Given the description of an element on the screen output the (x, y) to click on. 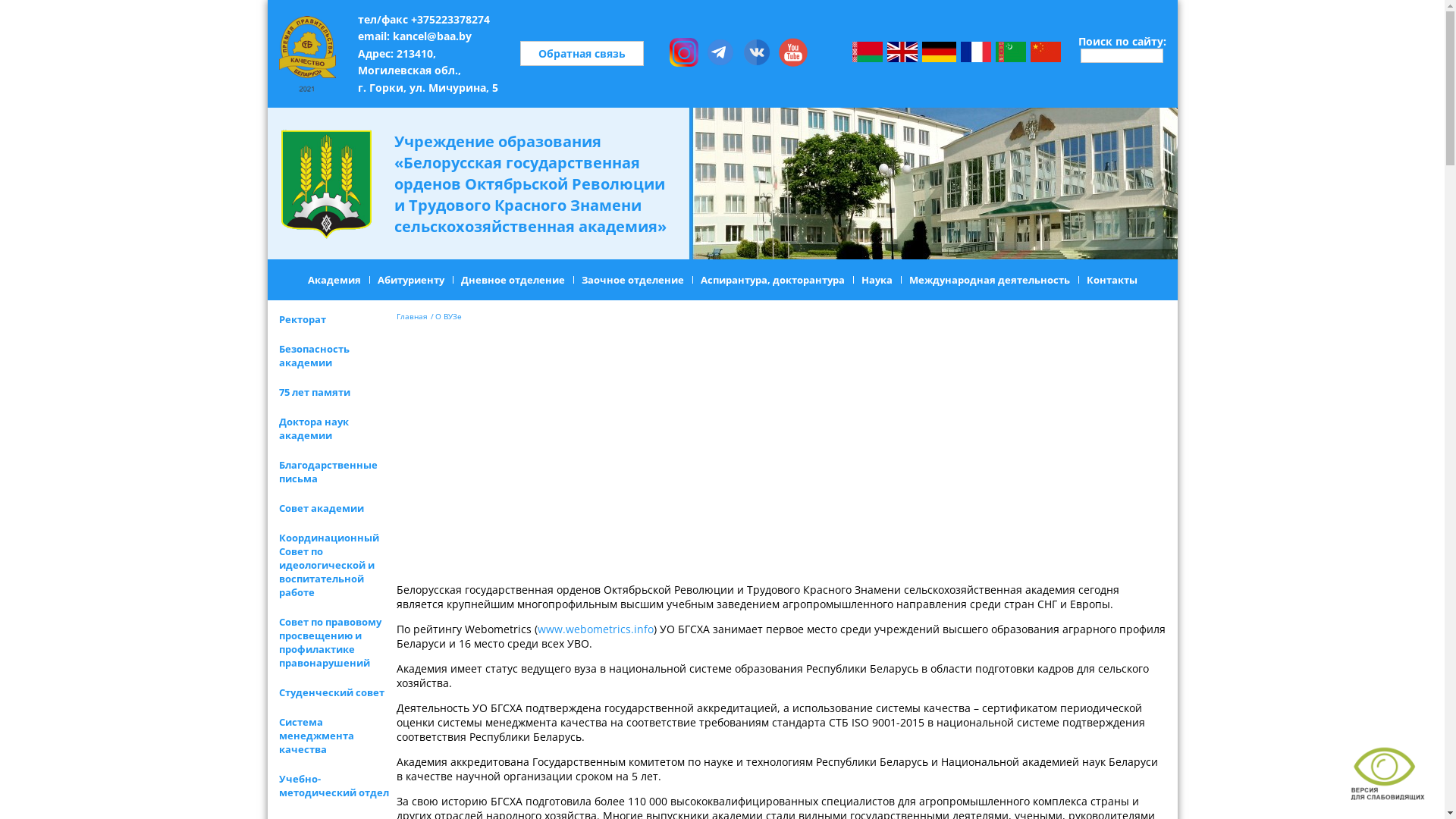
www.webometrics.info Element type: text (594, 628)
